Given the description of an element on the screen output the (x, y) to click on. 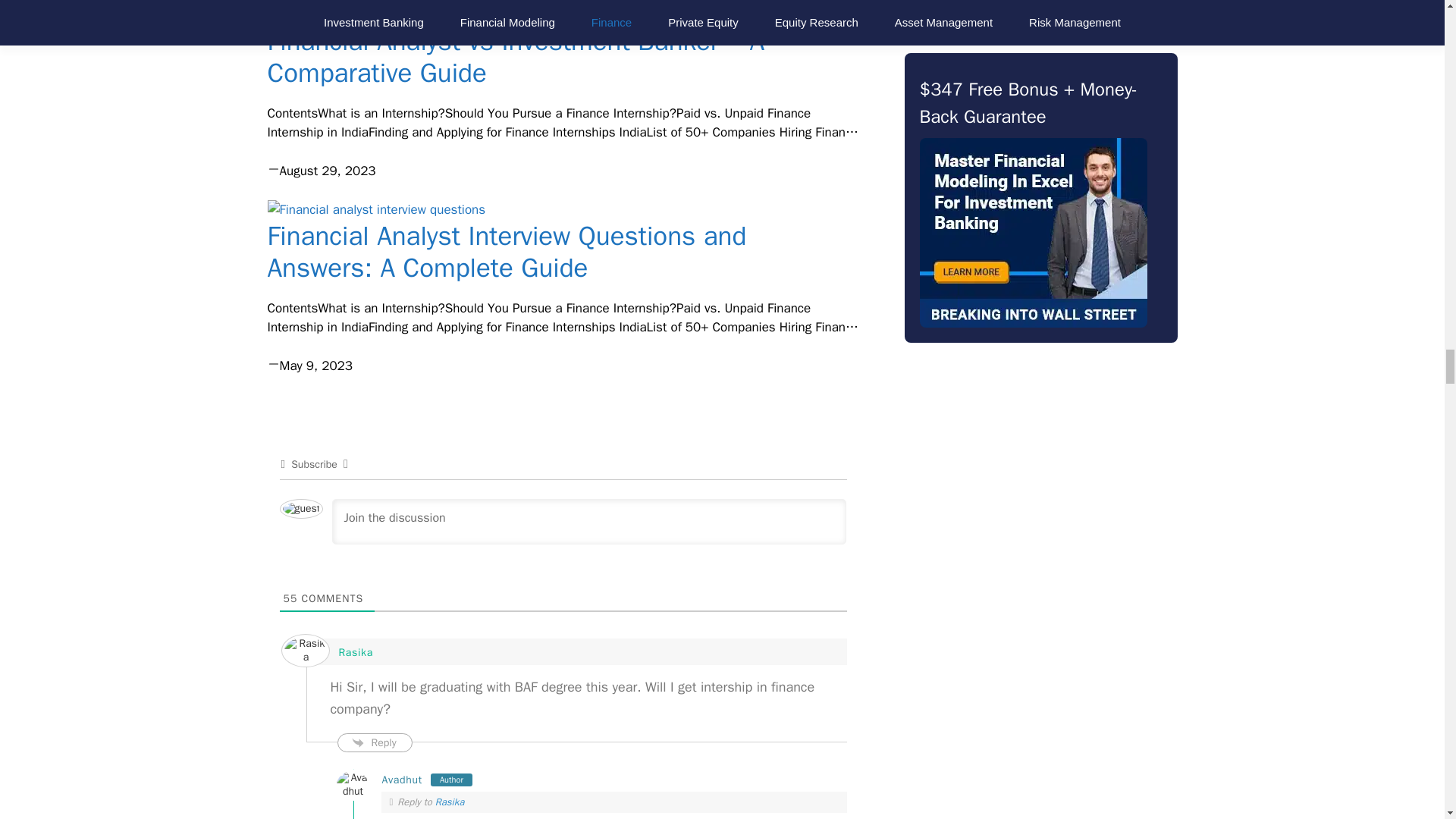
55 (290, 598)
